Given the description of an element on the screen output the (x, y) to click on. 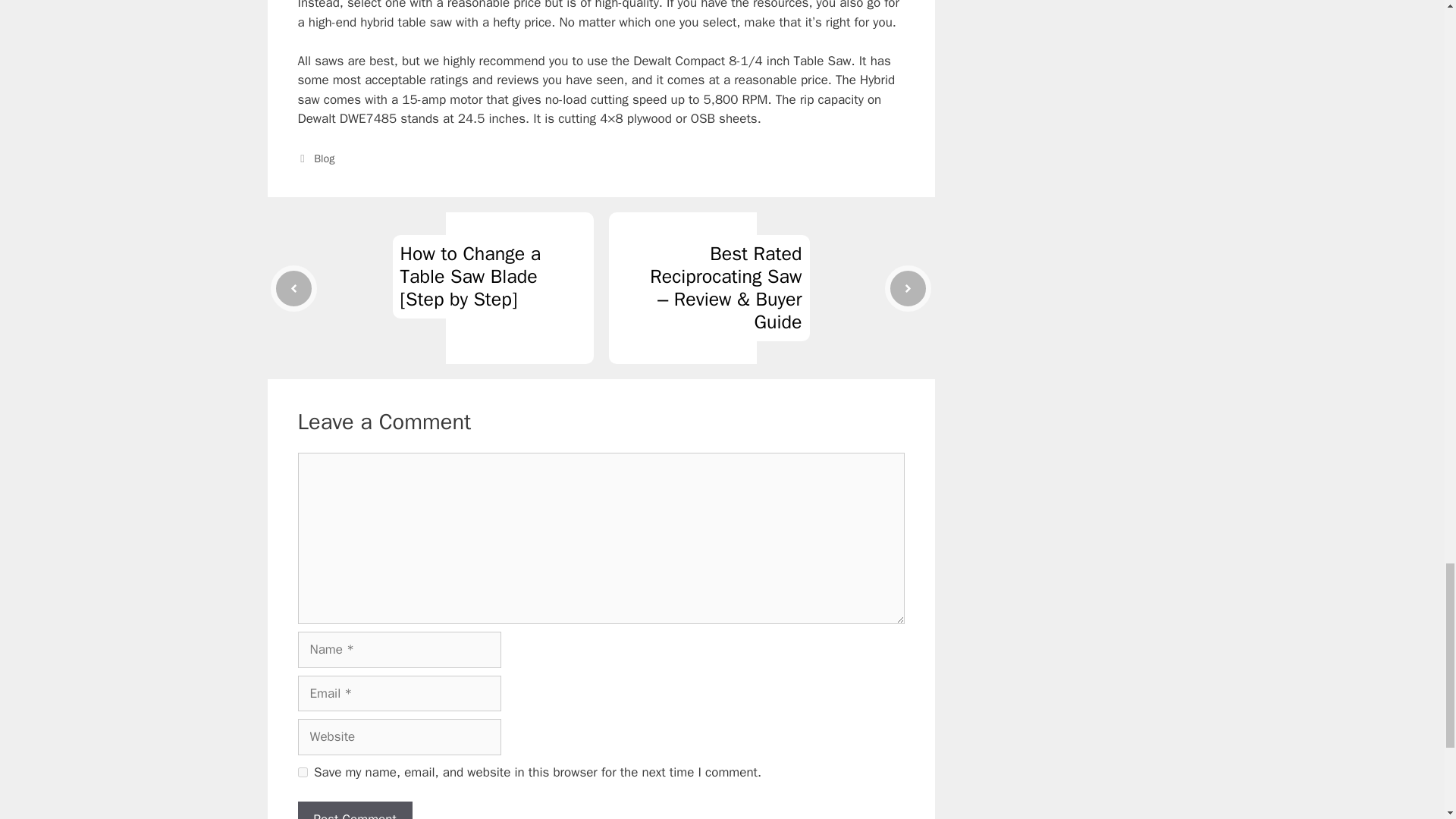
Post Comment (354, 810)
yes (302, 772)
